Given the description of an element on the screen output the (x, y) to click on. 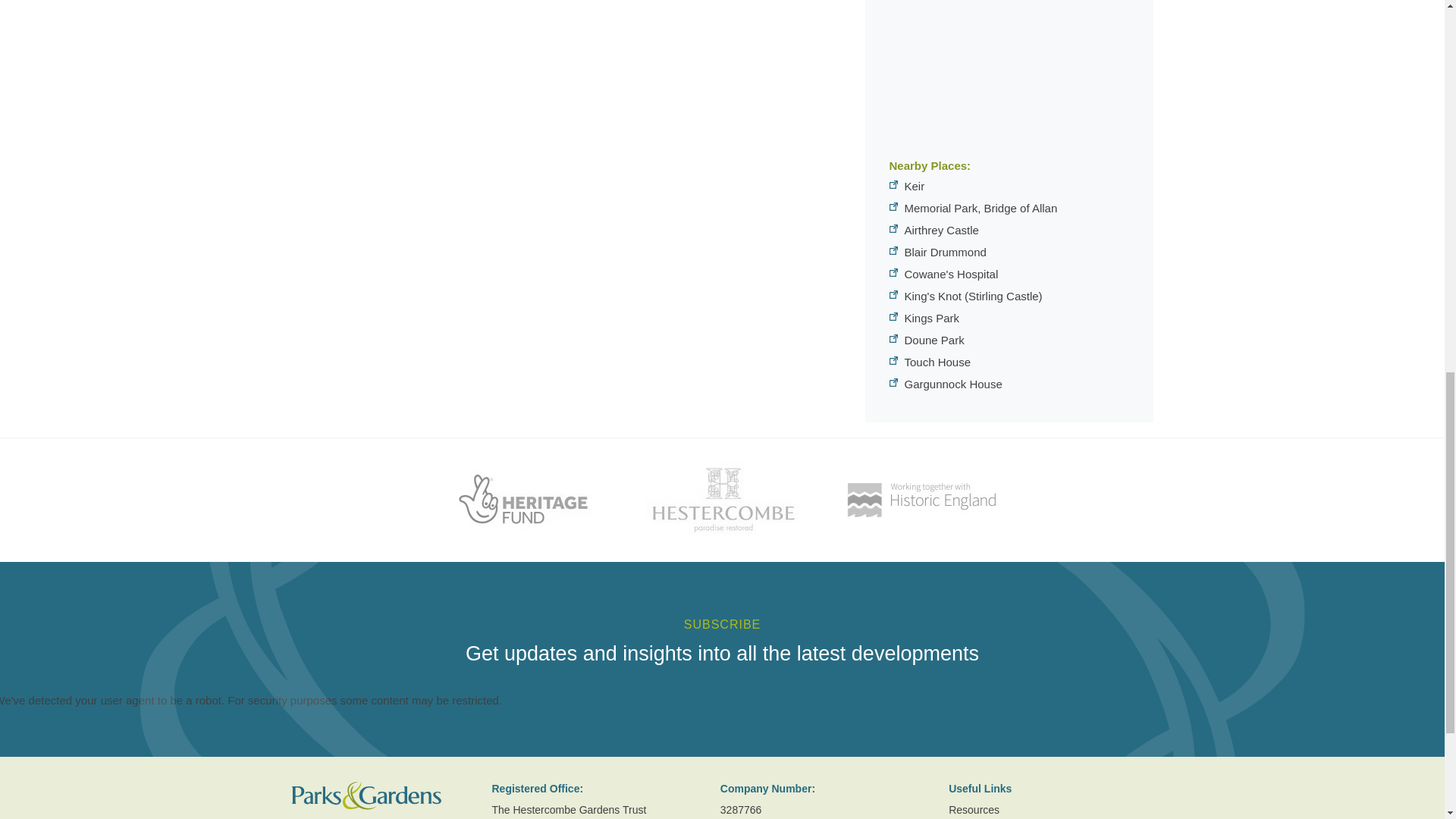
Advertisement (1008, 75)
